Given the description of an element on the screen output the (x, y) to click on. 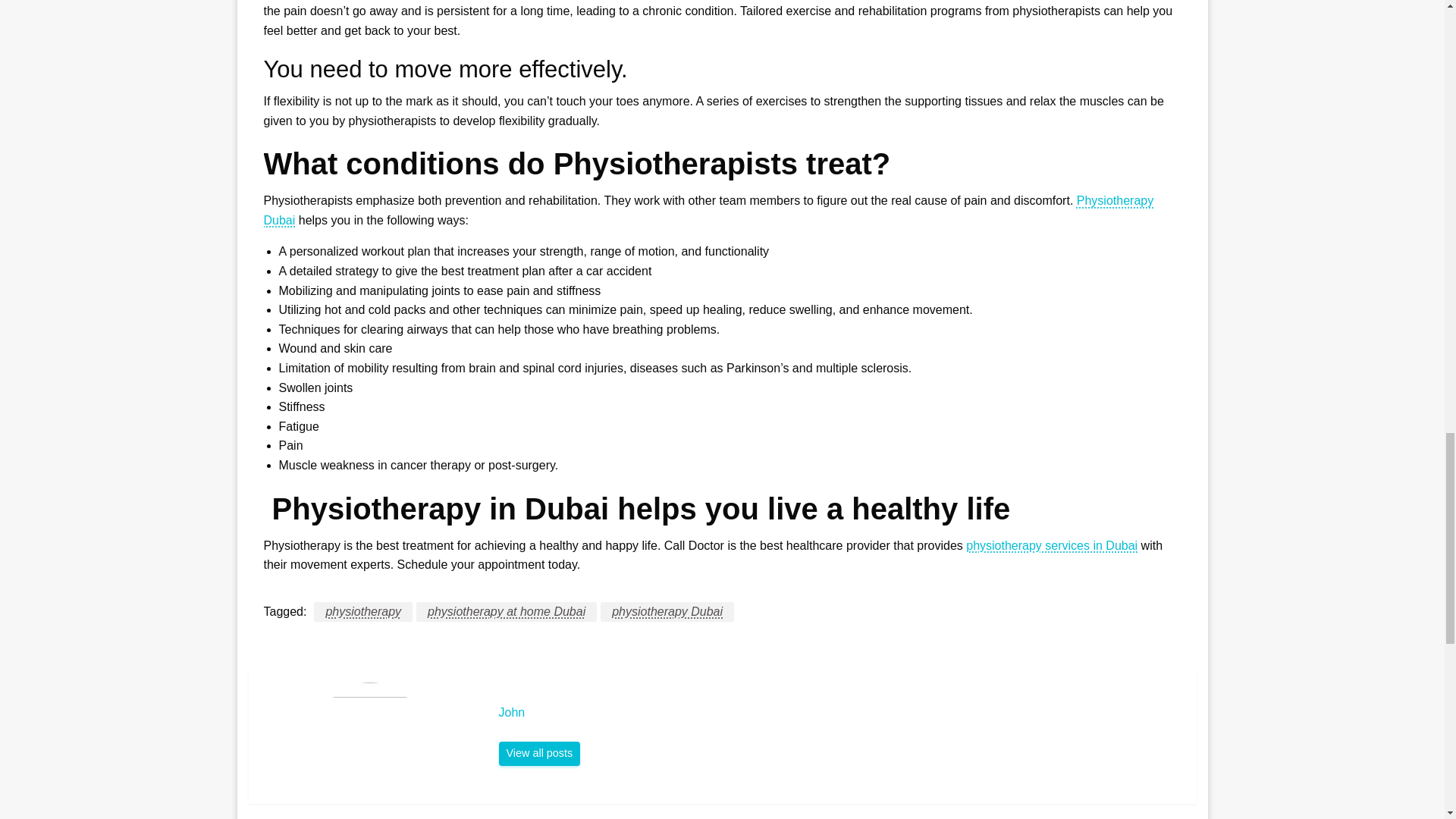
physiotherapy services in Dubai (1051, 545)
John (539, 753)
physiotherapy (363, 611)
John (839, 712)
physiotherapy at home Dubai (506, 611)
Physiotherapy Dubai (708, 210)
